Given the description of an element on the screen output the (x, y) to click on. 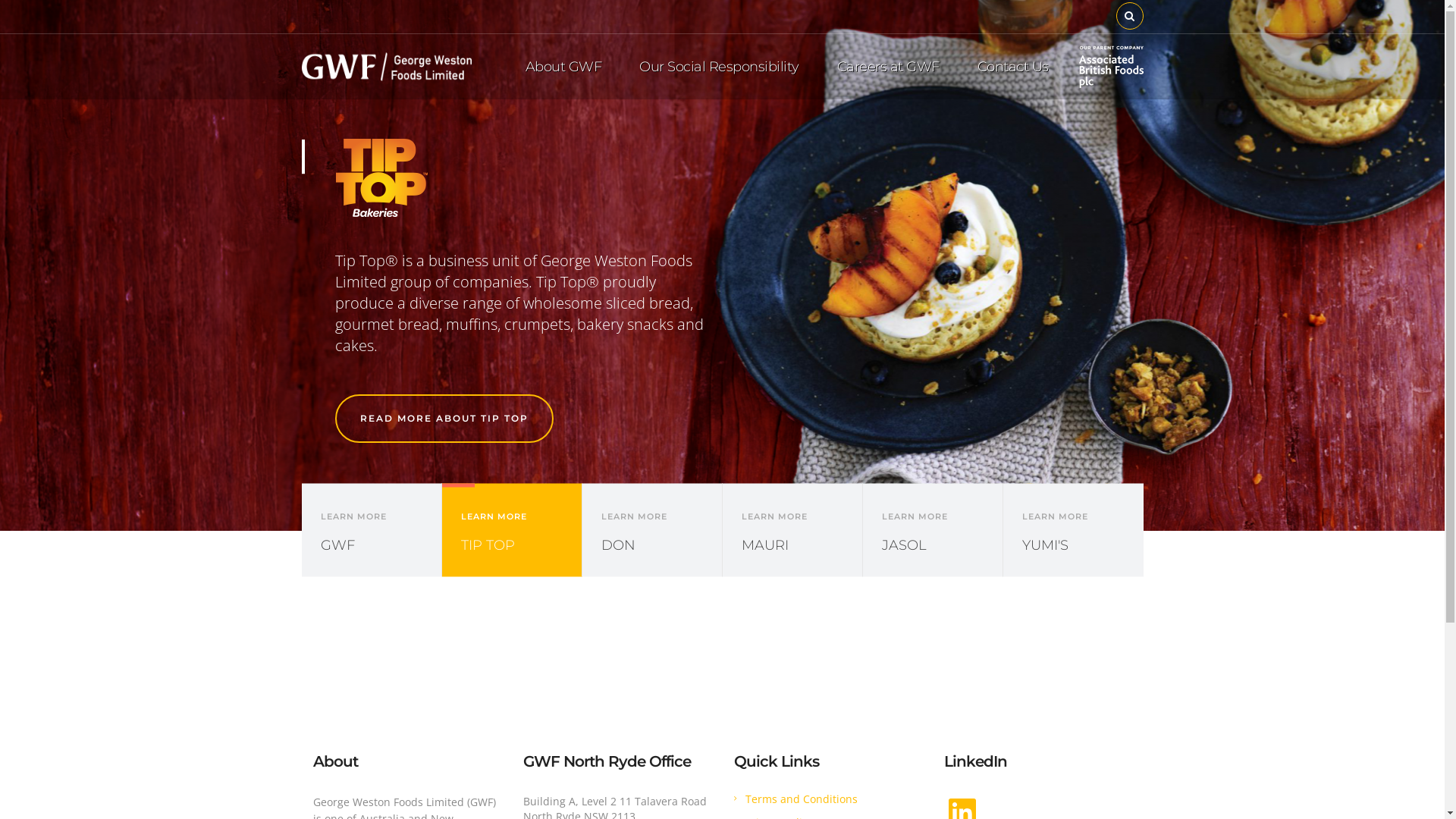
Terms and Conditions Element type: text (800, 798)
Careers at GWF Element type: text (887, 66)
Our Social Responsibility Element type: text (719, 66)
READ MORE ABOUT TIP TOP Element type: text (444, 418)
Contact Us Element type: text (1012, 66)
About GWF Element type: text (563, 66)
